Given the description of an element on the screen output the (x, y) to click on. 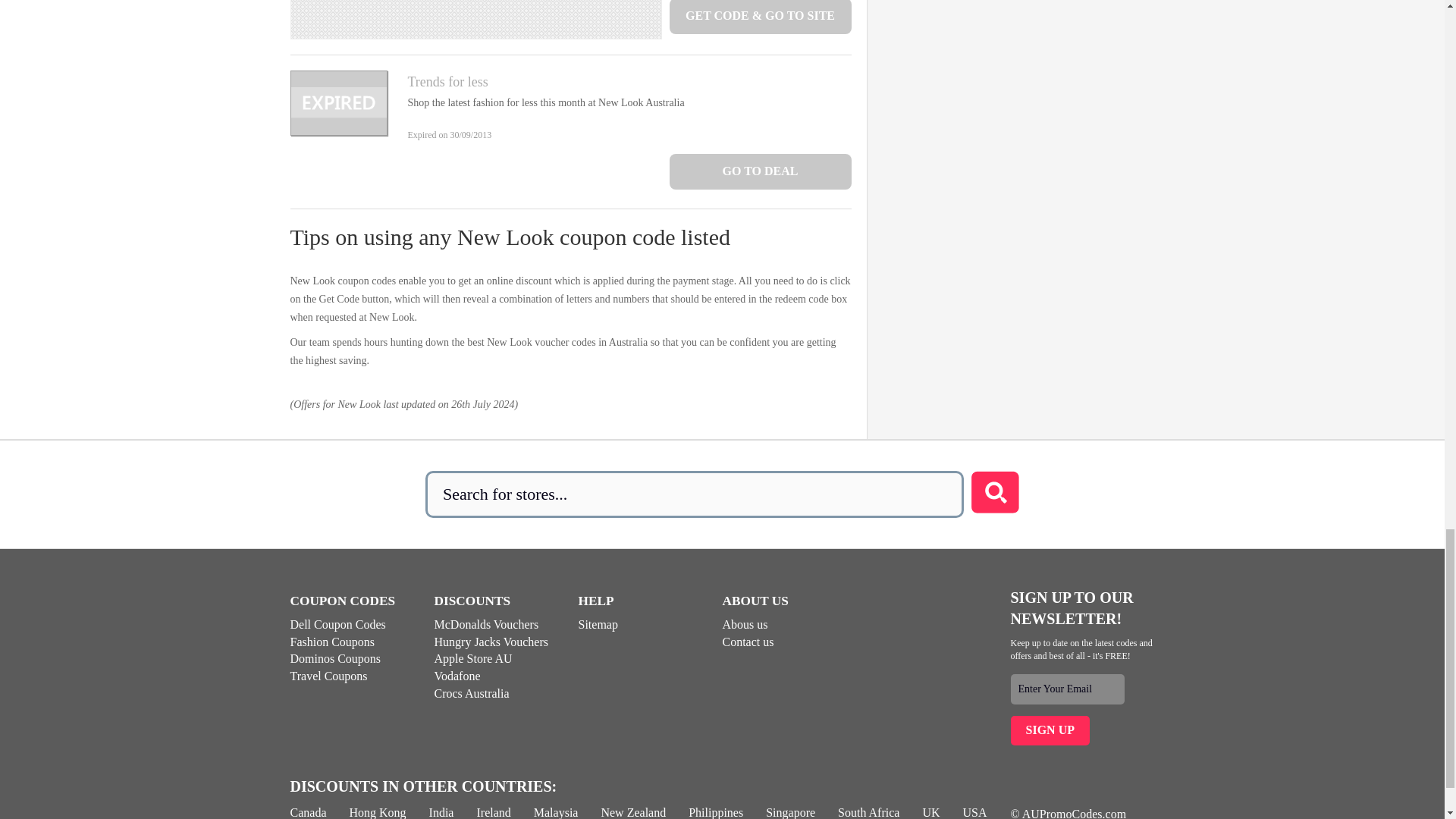
Enter Your Email (1067, 689)
Search for stores... (694, 493)
Search for stores... (694, 493)
Enter Your Email (1067, 689)
